Given the description of an element on the screen output the (x, y) to click on. 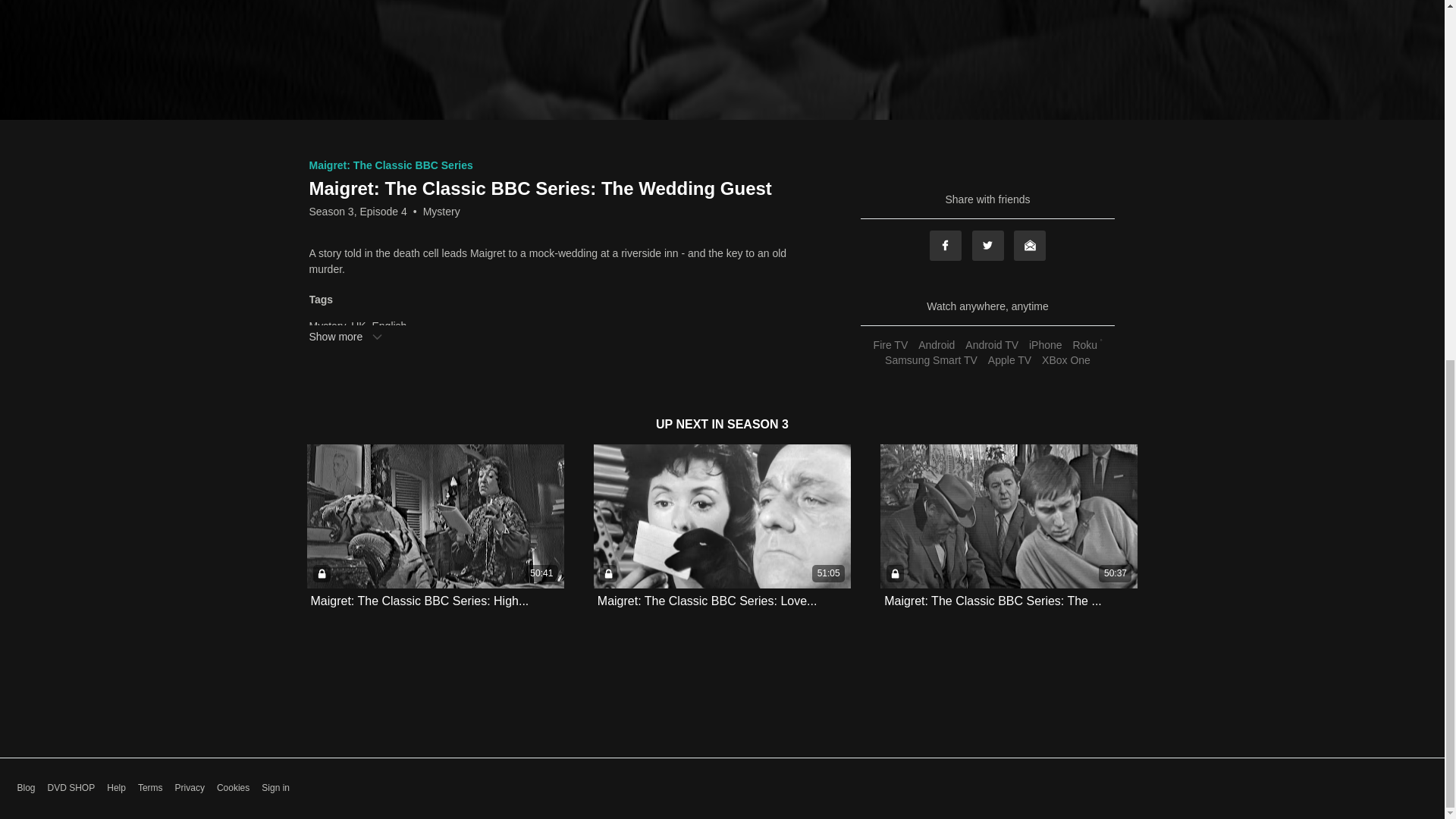
UK (357, 326)
Maigret: The Classic BBC Series: The ... (992, 600)
Mystery (327, 326)
Twitter (988, 245)
Android (936, 345)
Maigret: The Classic BBC Series: Love... (706, 600)
English (388, 326)
Maigret: The Classic BBC Series (390, 164)
Email (1029, 245)
Fire TV (890, 345)
Maigret: The Classic BBC Series: High... (420, 600)
Season 3, Episode 4 (357, 211)
Facebook (945, 245)
Mystery (441, 211)
